Given the description of an element on the screen output the (x, y) to click on. 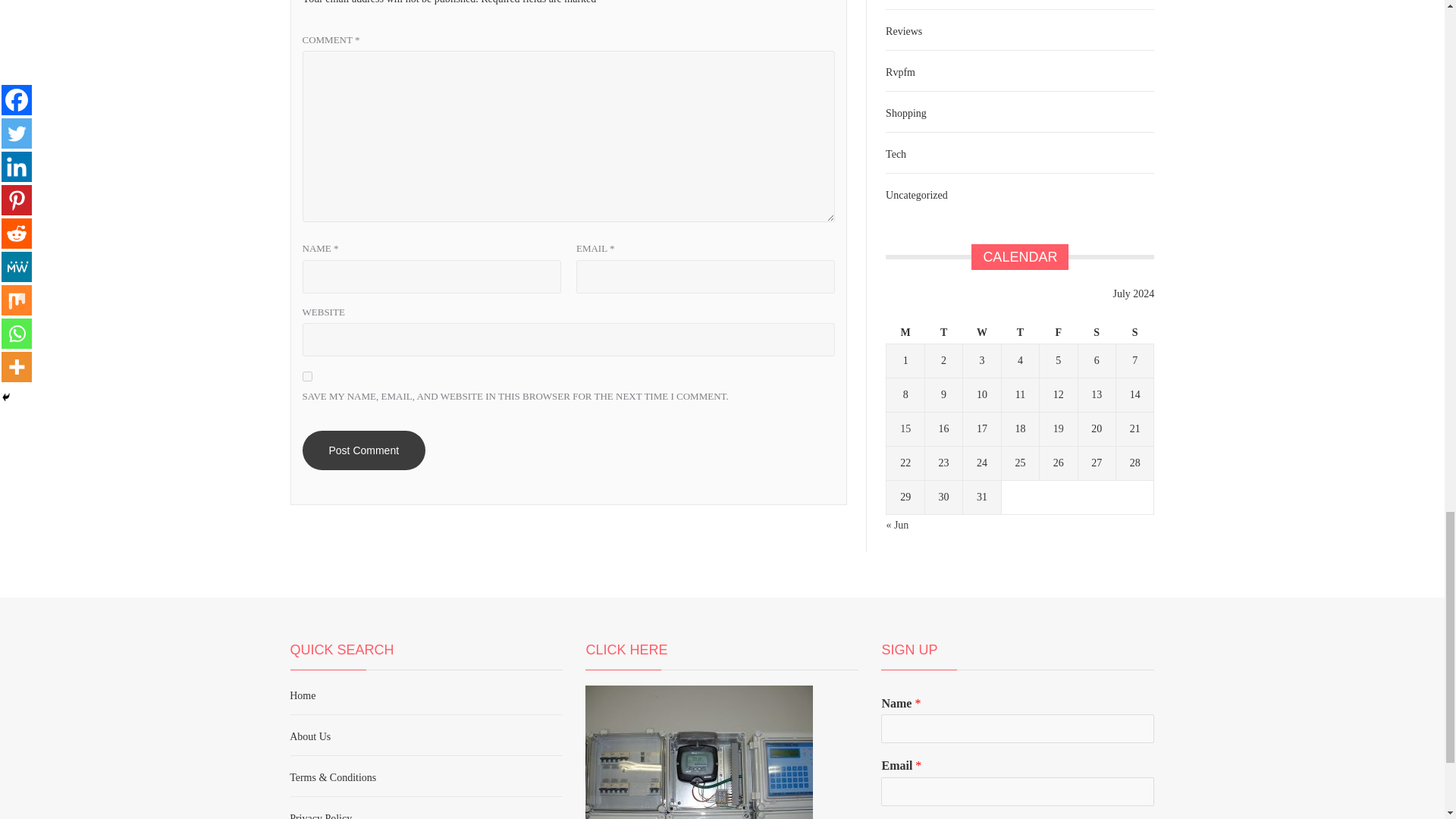
yes (306, 376)
Post Comment (363, 450)
